Given the description of an element on the screen output the (x, y) to click on. 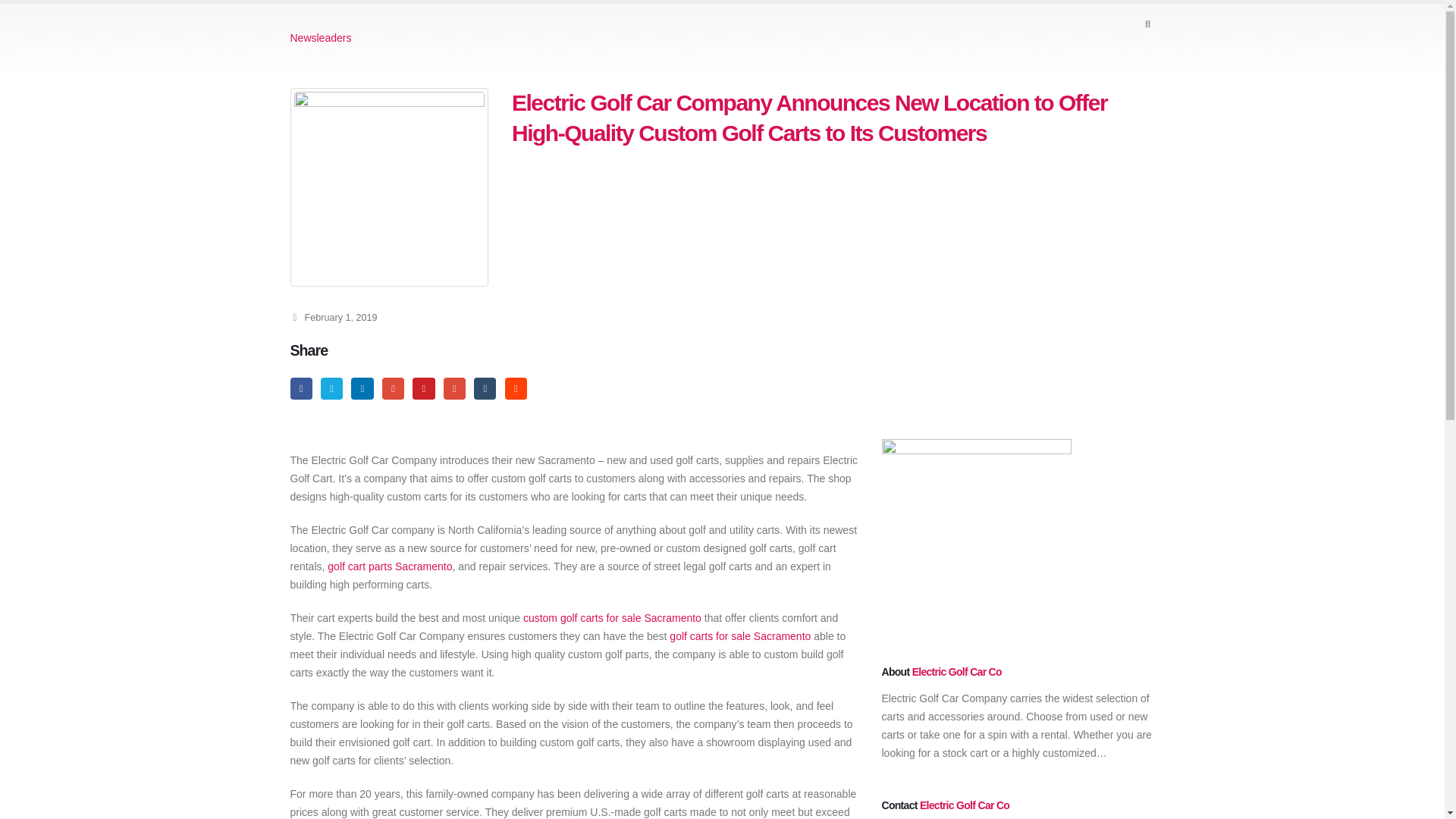
Pinterest (422, 388)
Tumblr (485, 388)
golf cart parts Sacramento (389, 566)
Email (454, 388)
LinkedIn (361, 388)
Reddit (516, 388)
golf carts for sale Sacramento (739, 635)
LinkedIn (361, 388)
Electric Golf Car Co (956, 671)
Email (454, 388)
Twitter (331, 388)
Twitter (331, 388)
Tumblr (485, 388)
Facebook (300, 388)
Electric Golf Car Co (964, 805)
